Given the description of an element on the screen output the (x, y) to click on. 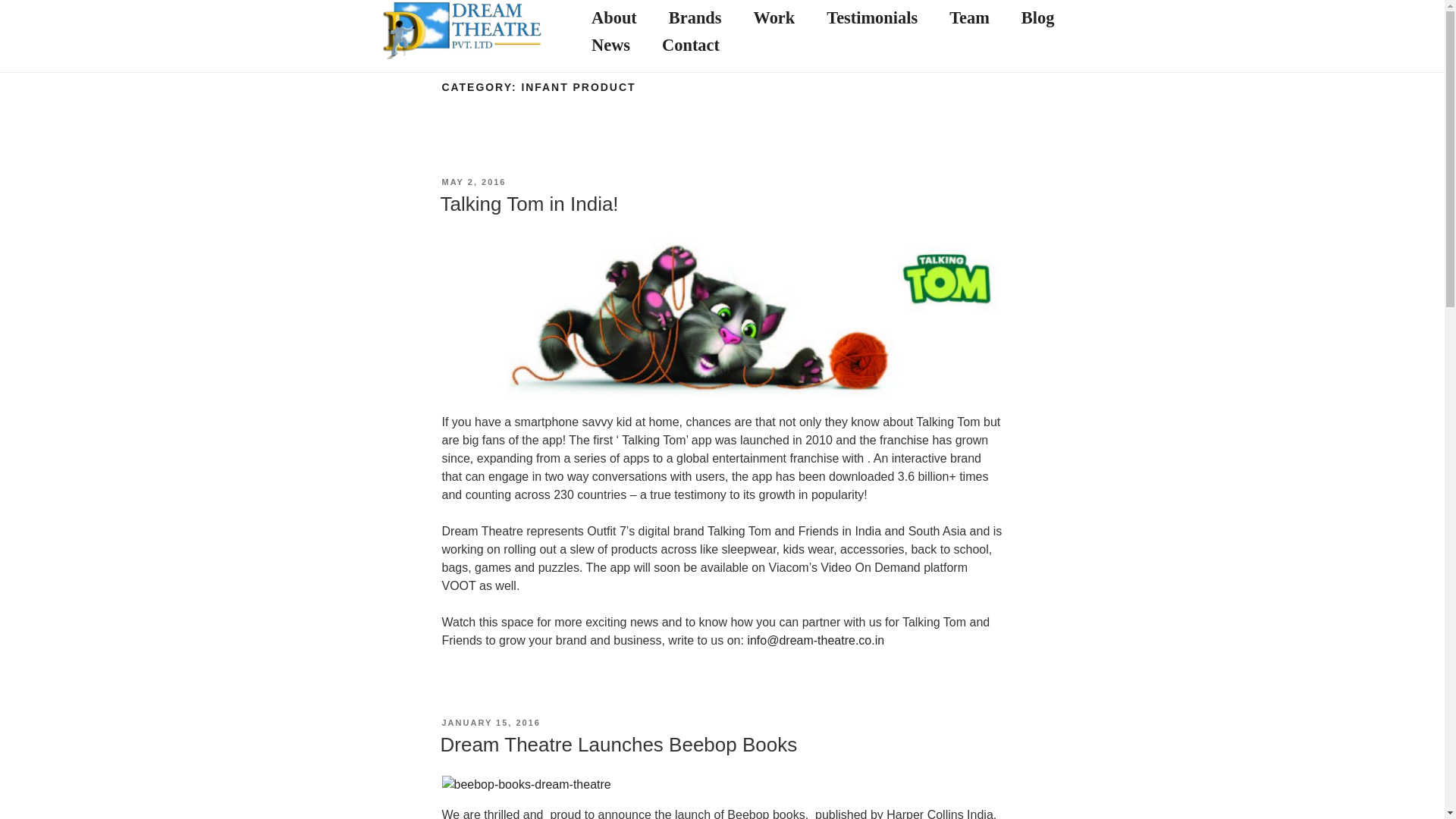
Team (969, 18)
About (614, 18)
Testimonials (872, 18)
Brands (695, 18)
Work (774, 18)
JANUARY 15, 2016 (490, 722)
MAY 2, 2016 (473, 181)
Dream Theatre Launches Beebop Books (617, 744)
Talking Tom in India! (528, 203)
Contact (690, 46)
News (610, 46)
Blog (1038, 18)
DREAM THEATRE (510, 52)
